Given the description of an element on the screen output the (x, y) to click on. 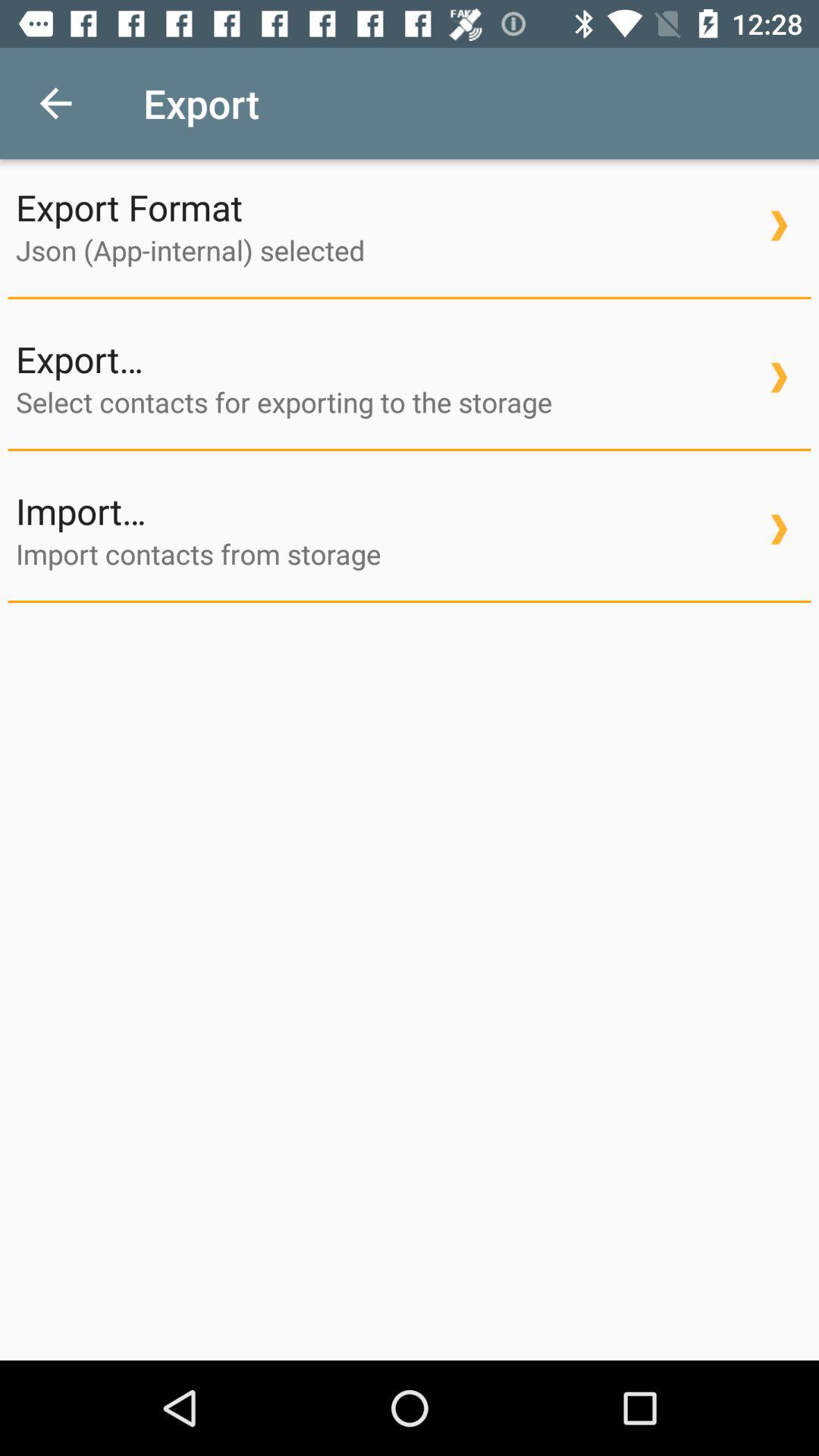
choose the icon to the left of export (55, 103)
